Given the description of an element on the screen output the (x, y) to click on. 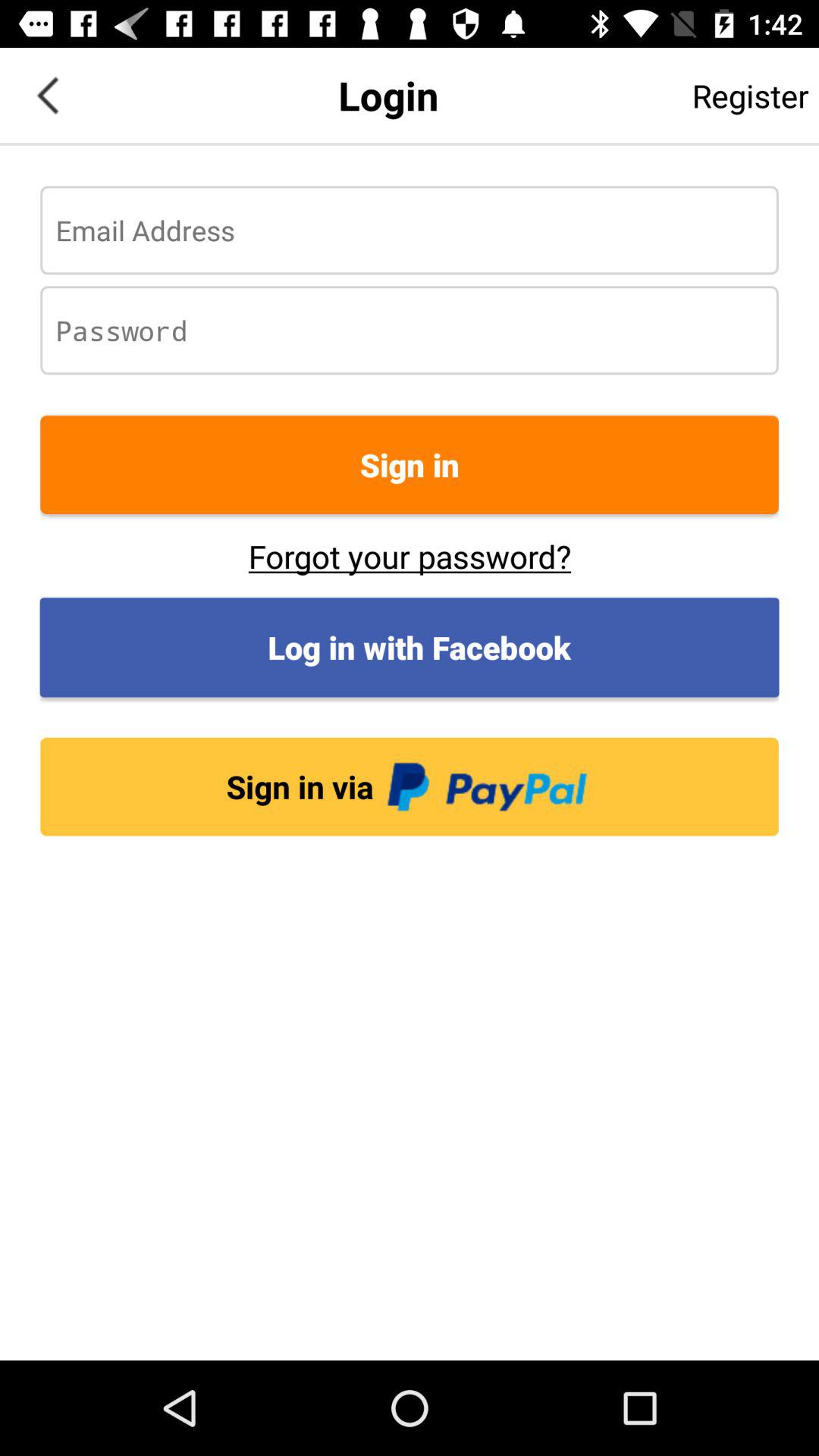
launch item to the left of the login (47, 95)
